Given the description of an element on the screen output the (x, y) to click on. 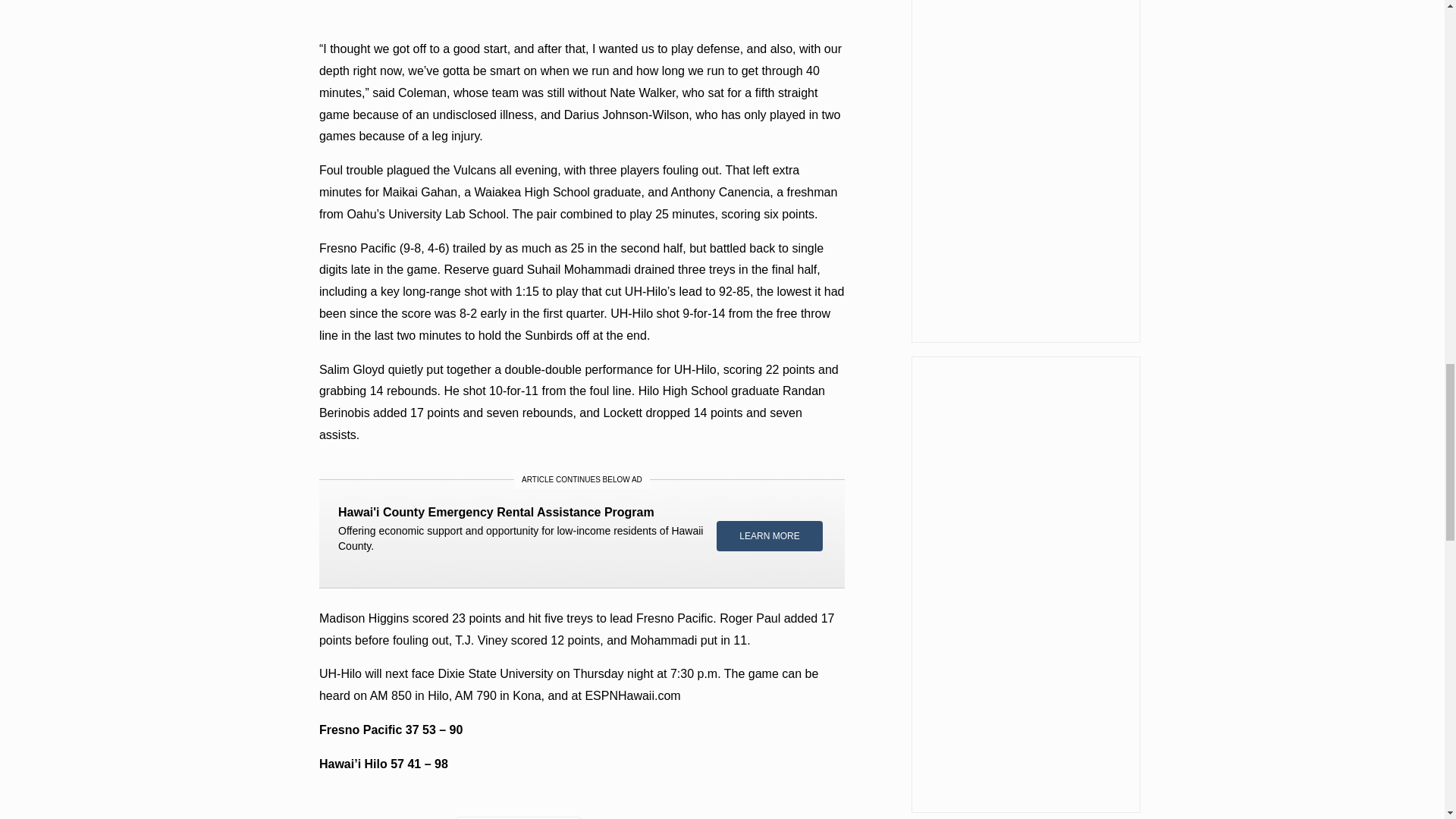
3rd party ad content (581, 525)
3rd party ad content (1025, 584)
3rd party ad content (1025, 171)
